Given the description of an element on the screen output the (x, y) to click on. 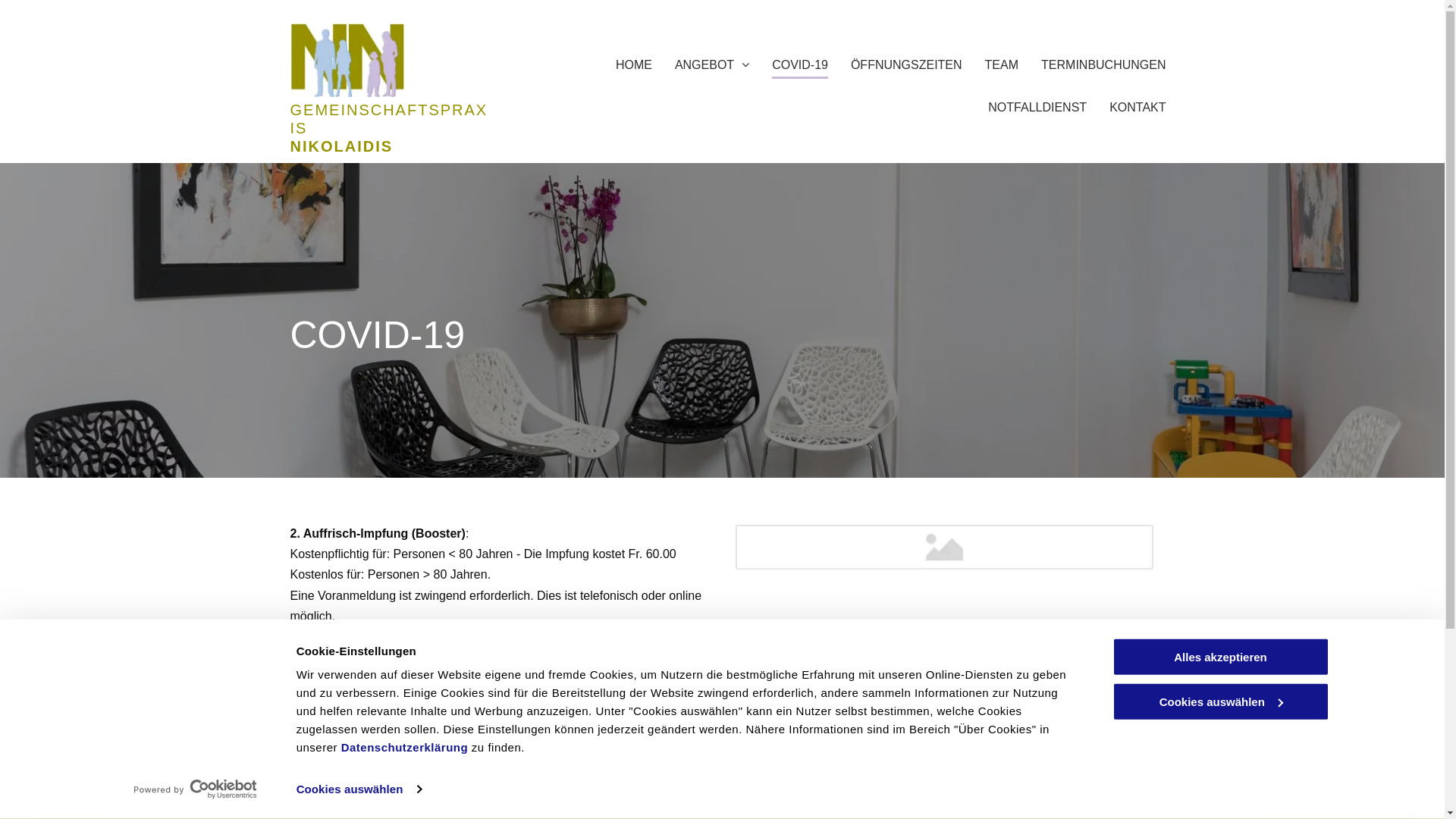
TEAM Element type: text (1001, 61)
ANGEBOT Element type: text (711, 61)
041 467 24 34 Element type: text (540, 812)
NOTFALLDIENST Element type: text (1037, 103)
KONTAKT Element type: text (1137, 103)
Impressum Element type: text (1051, 811)
COVID-19 Element type: text (799, 61)
HOME Element type: text (633, 61)
Alles akzeptieren Element type: text (1219, 656)
TERMINBUCHUNGEN Element type: text (1103, 61)
